Given the description of an element on the screen output the (x, y) to click on. 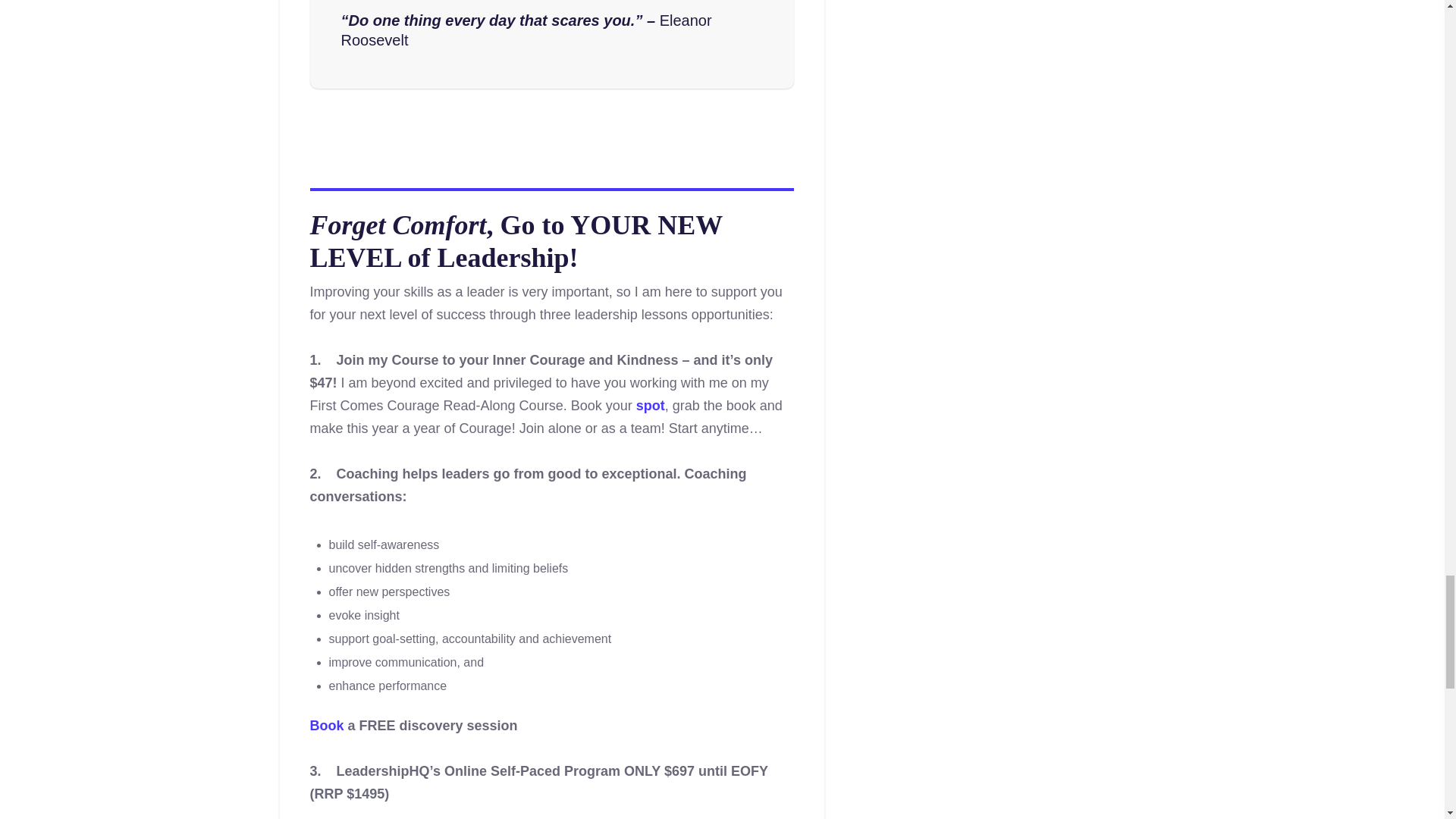
Book (325, 725)
spot (650, 405)
